Given the description of an element on the screen output the (x, y) to click on. 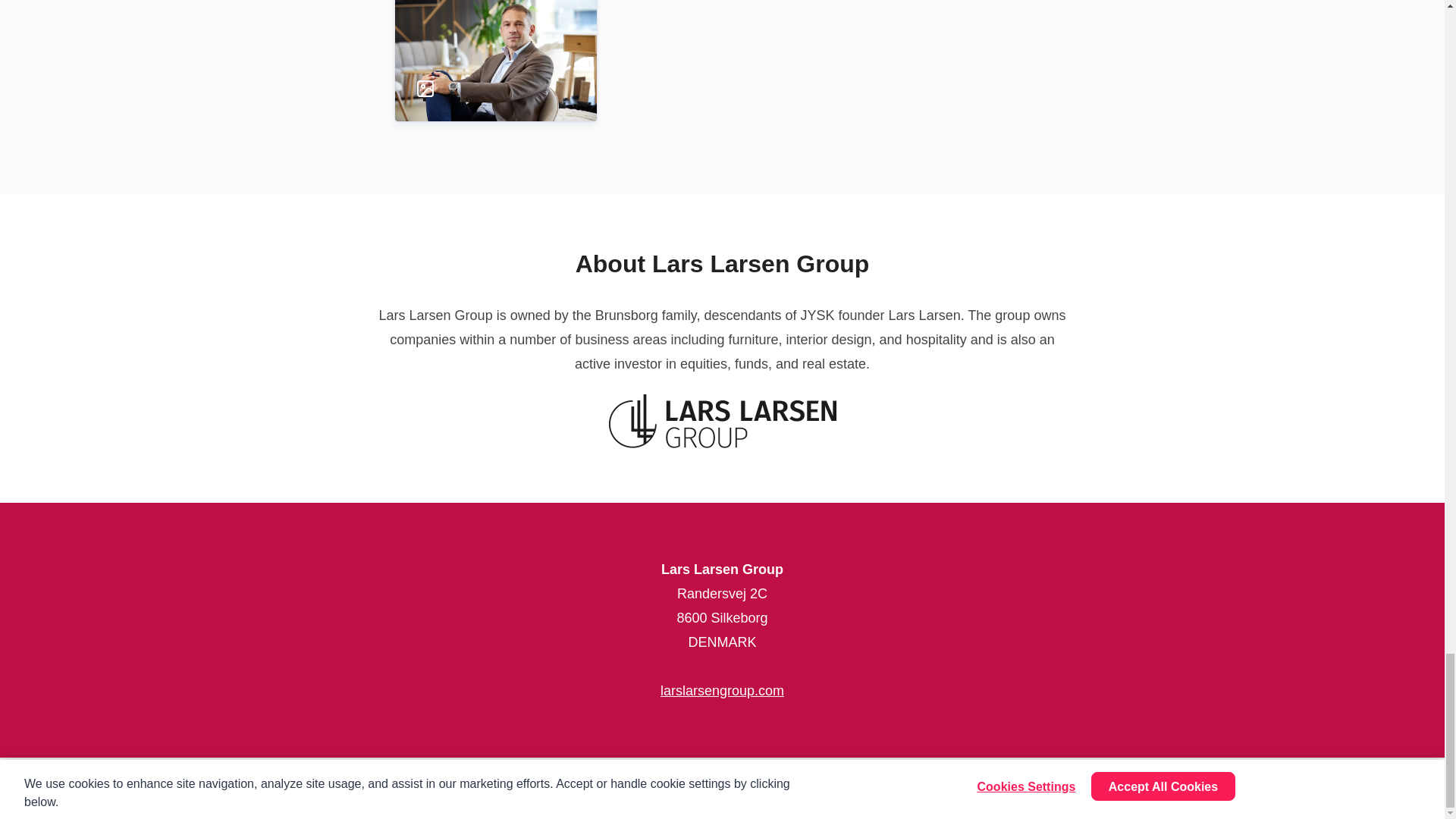
larslarsengroup.com (722, 690)
Go to mynewsdesk.com (77, 788)
Find more stories (1312, 788)
Log in (1407, 788)
Rami Jensen, President and CEO, JYSK - Nov 23 (494, 36)
For journalists (1192, 788)
Try Mynewsdesk (1074, 788)
